Given the description of an element on the screen output the (x, y) to click on. 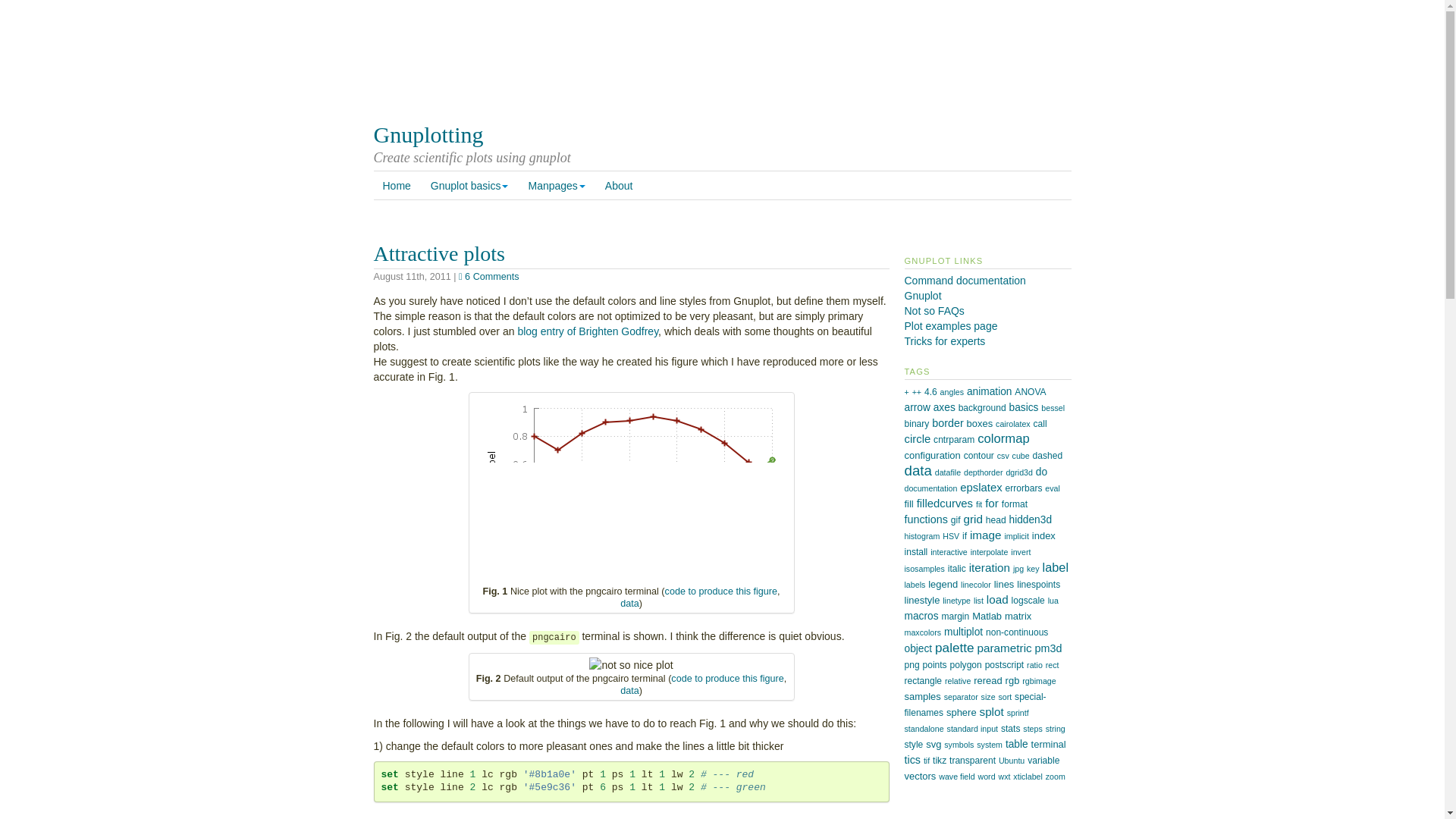
A BLOG about advanced plotting with Gnuplot (944, 340)
data (629, 603)
data (629, 690)
Attractive plots (437, 253)
Documentation of the commands in Gnuplot (964, 280)
Very nice Gnuplot related site (933, 310)
Gnuplot (922, 295)
Command documentation (964, 280)
Gnuplotting (427, 134)
Not so FAQs (933, 310)
